Given the description of an element on the screen output the (x, y) to click on. 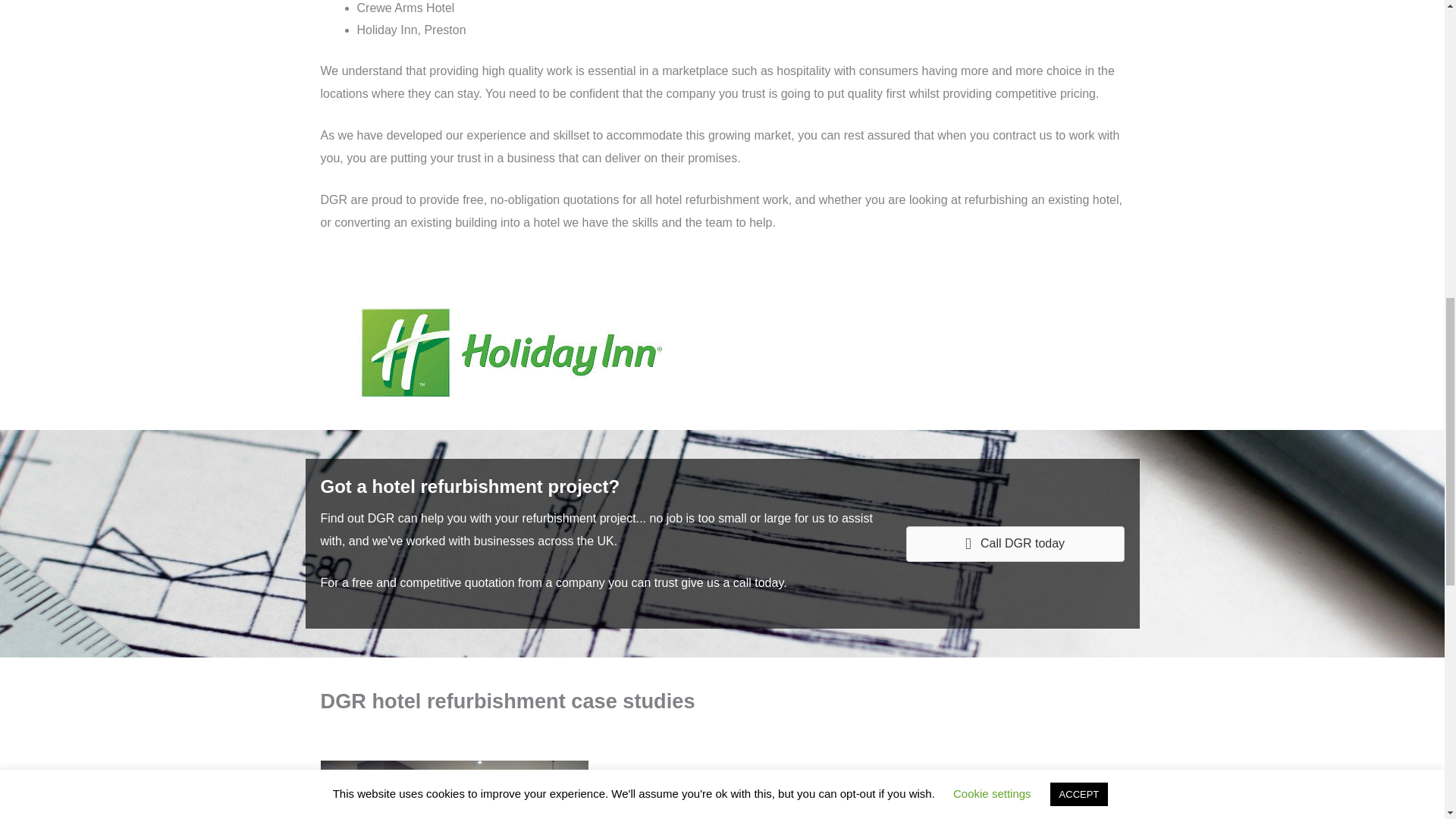
Call DGR today (1014, 543)
holiday-inn-logo (513, 352)
